Given the description of an element on the screen output the (x, y) to click on. 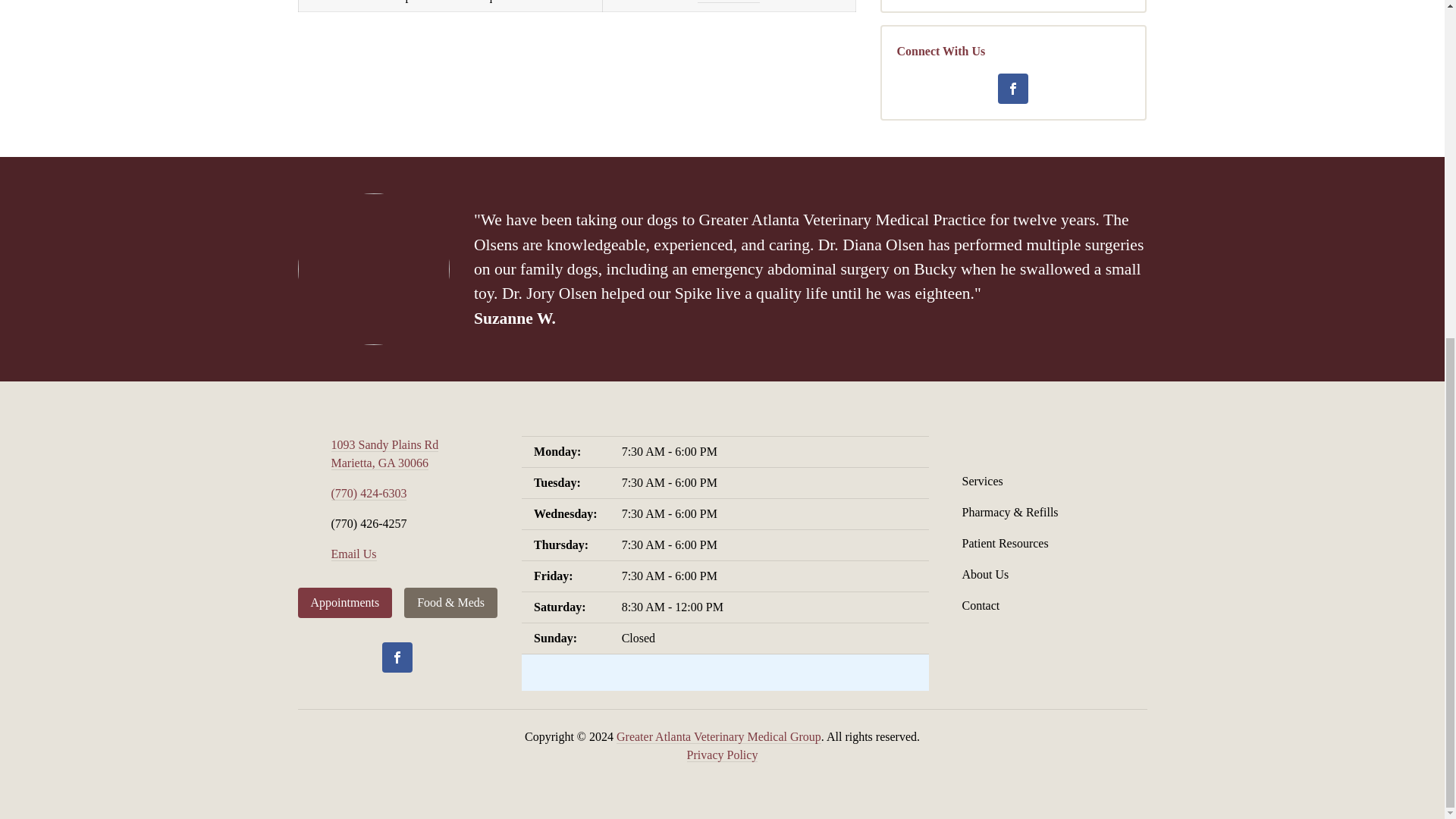
Email Us (352, 554)
Facebook (396, 657)
Online Form (728, 1)
Open this Address on Google Maps (384, 454)
Appointments (344, 603)
Facebook (1012, 88)
Call Us (368, 493)
